Given the description of an element on the screen output the (x, y) to click on. 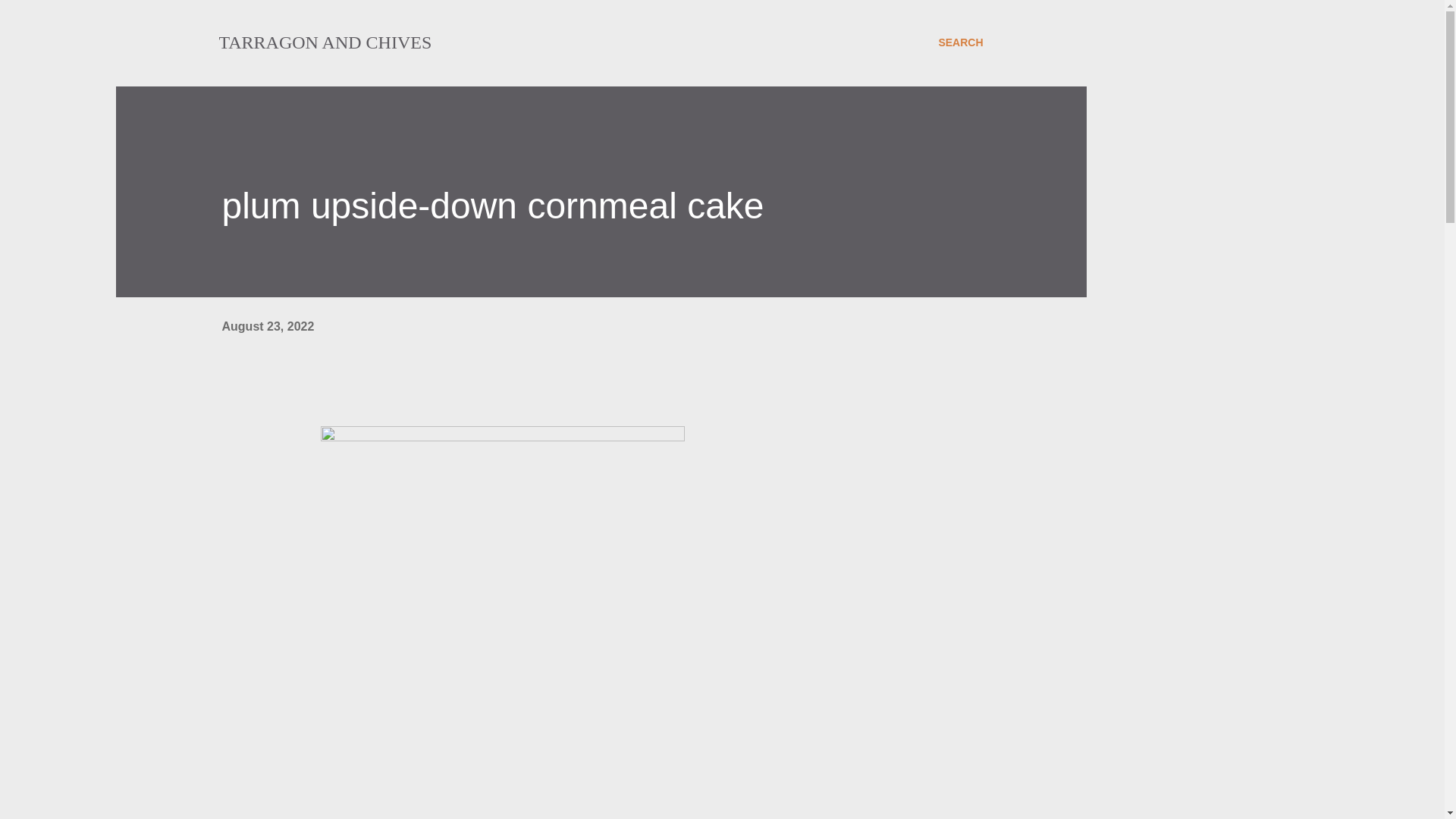
permanent link (267, 326)
August 23, 2022 (267, 326)
TARRAGON AND CHIVES (324, 42)
SEARCH (959, 42)
